Given the description of an element on the screen output the (x, y) to click on. 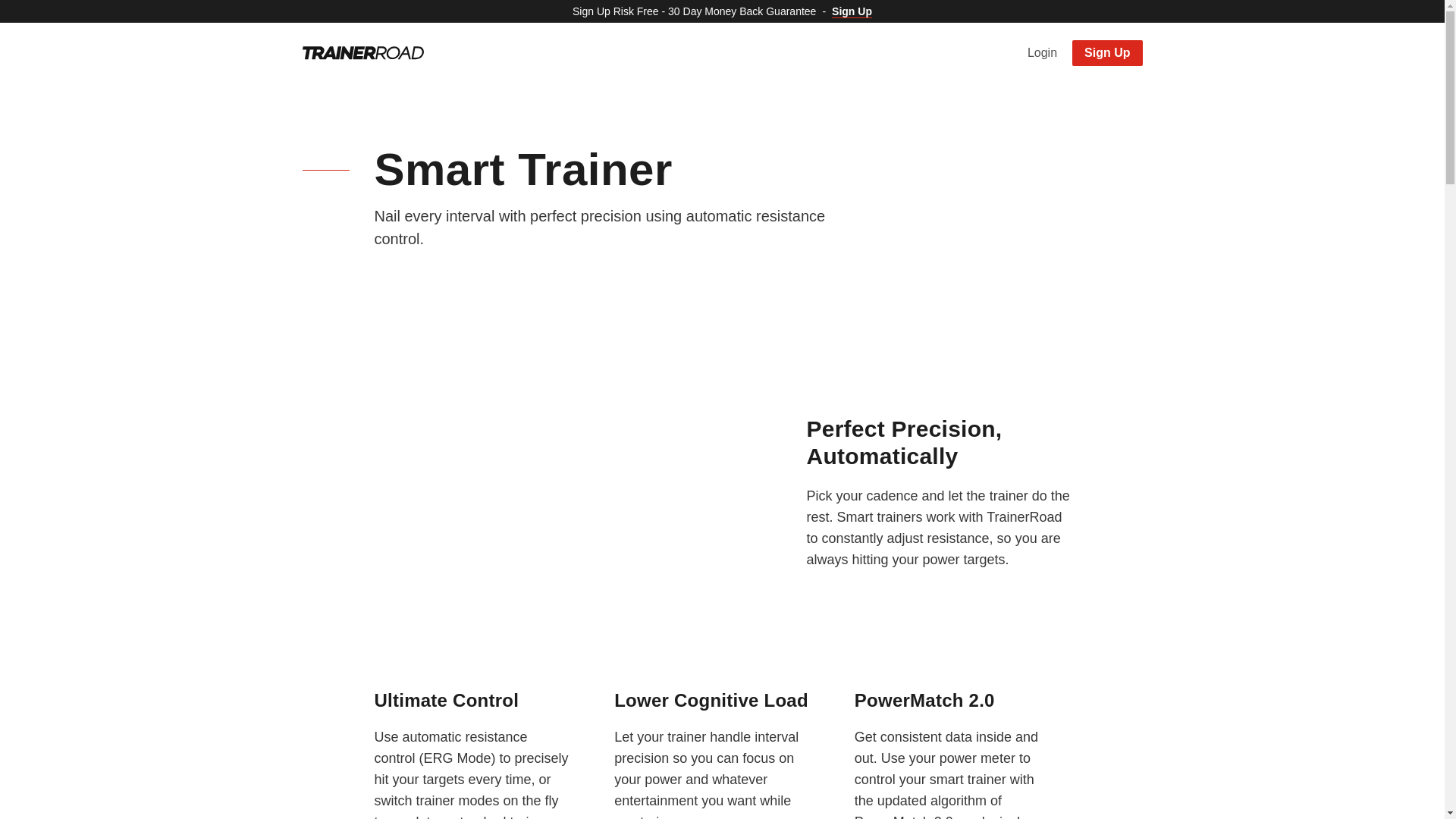
Sign Up (1106, 53)
TrainerRoad Homepage (362, 51)
Login (1042, 52)
